Given the description of an element on the screen output the (x, y) to click on. 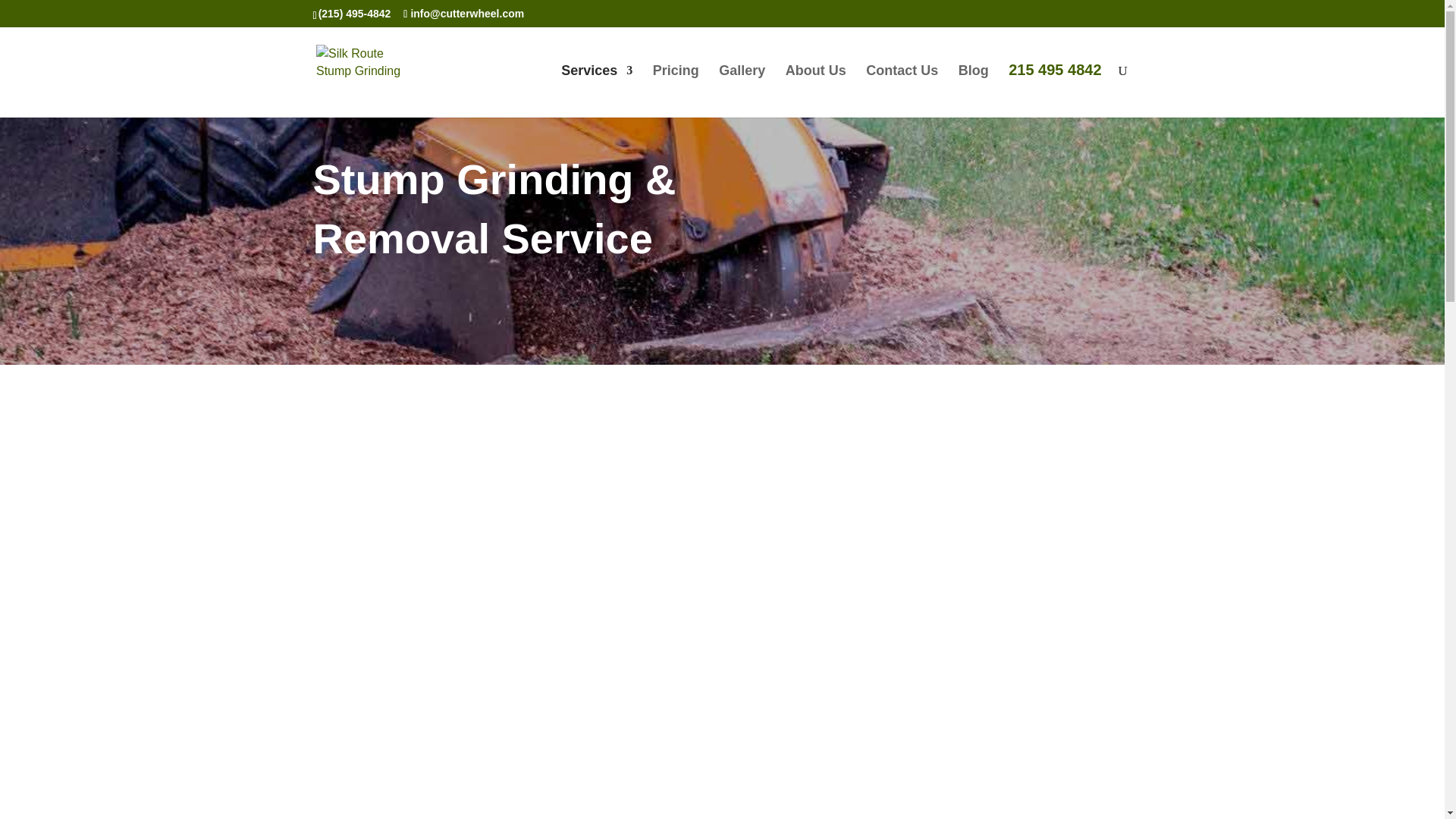
215 495 4842 (1054, 90)
Services (595, 91)
About Us (815, 91)
Contact Us (901, 91)
